Given the description of an element on the screen output the (x, y) to click on. 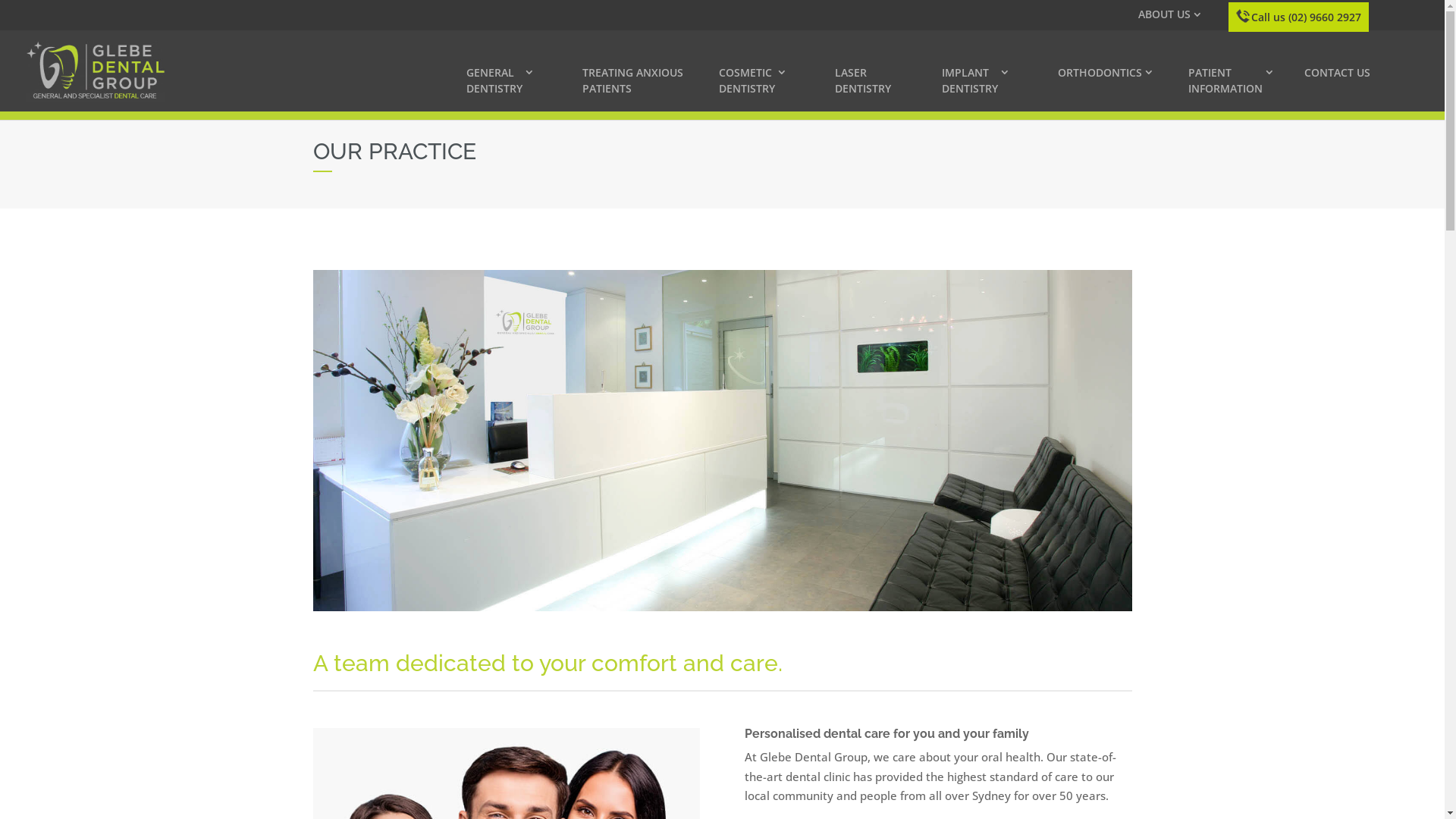
CONTACT US Element type: text (1362, 79)
Call us (02) 9660 2927 Element type: text (1306, 16)
glebedentalgroup-aboutusheaderv3 Element type: hover (721, 440)
LASER DENTISTRY Element type: text (879, 87)
IMPLANT DENTISTRY Element type: text (991, 87)
GENERAL DENTISTRY Element type: text (515, 87)
COSMETIC DENTISTRY Element type: text (768, 87)
ABOUT US Element type: text (1171, 18)
TREATING ANXIOUS PATIENTS Element type: text (642, 87)
ORTHODONTICS Element type: text (1114, 79)
PATIENT INFORMATION Element type: text (1237, 87)
